Given the description of an element on the screen output the (x, y) to click on. 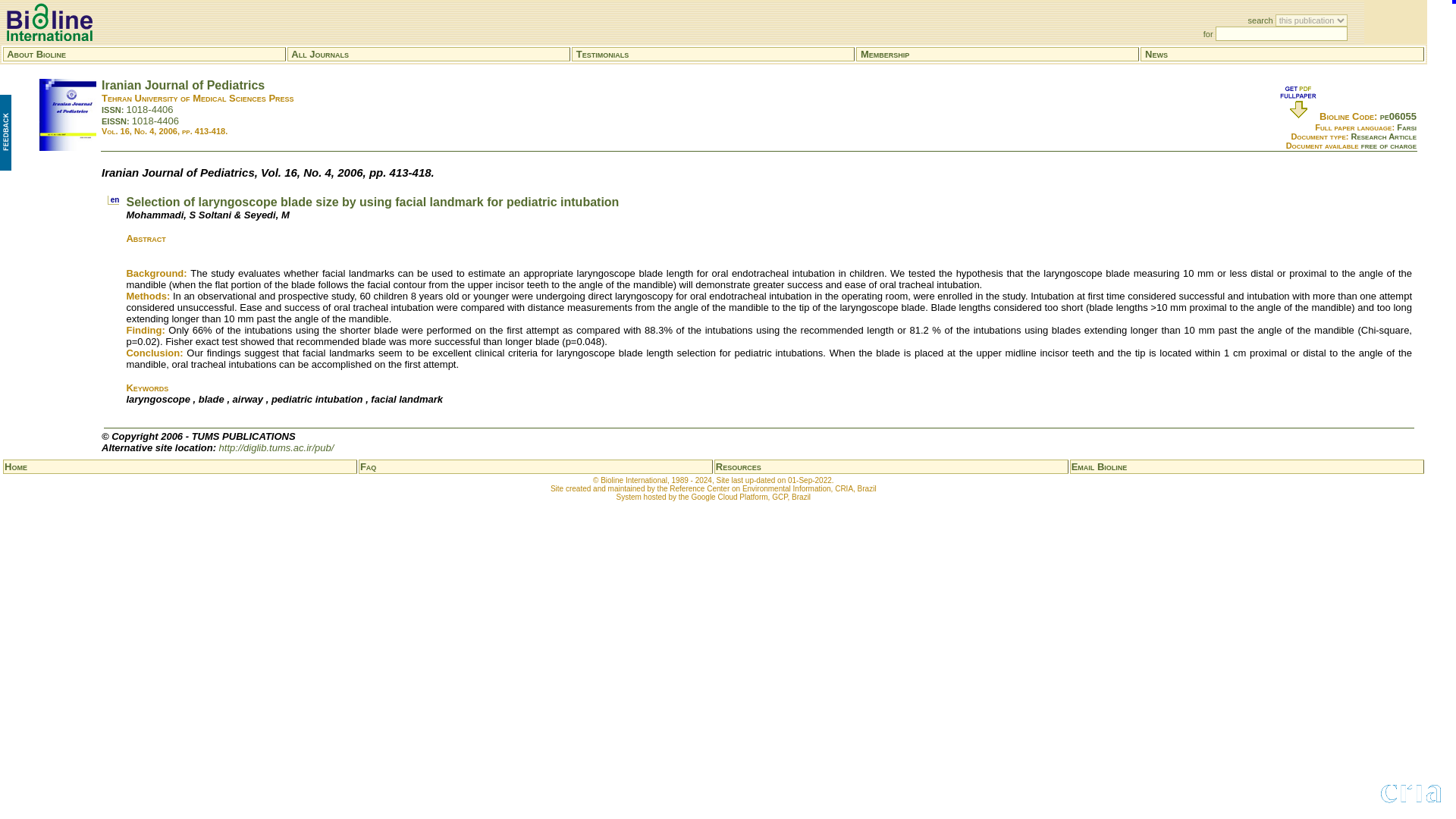
Testimonials (602, 53)
News (1155, 53)
About Bioline (36, 53)
1018-4406 (155, 120)
Email Bioline (1098, 466)
Home (15, 466)
Resources (738, 466)
1018-4406 (149, 109)
Membership (884, 53)
Faq (367, 466)
